Given the description of an element on the screen output the (x, y) to click on. 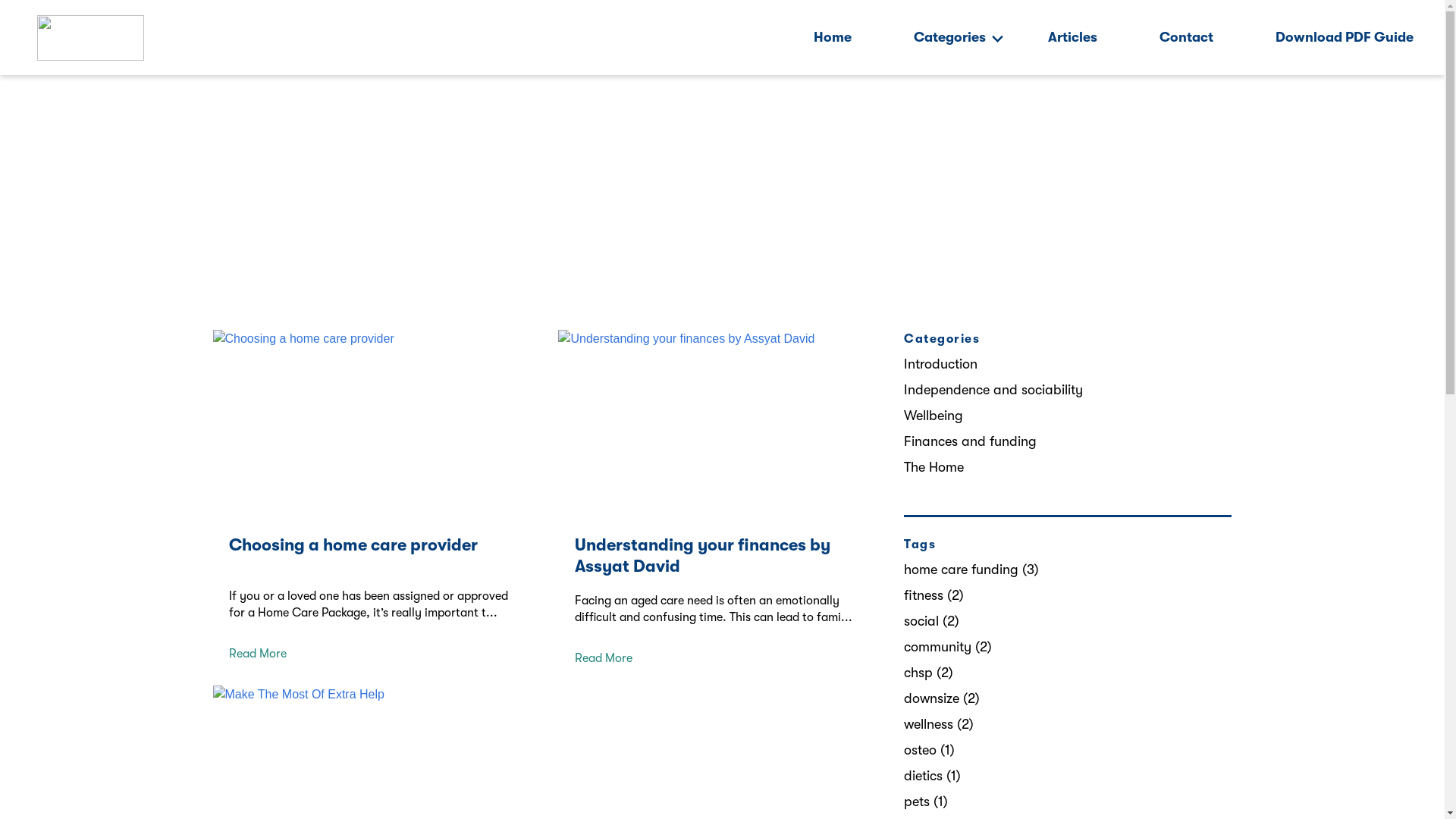
Choosing a home care provider Element type: text (353, 548)
dietics (1) Element type: text (931, 775)
community (2) Element type: text (947, 646)
osteo (1) Element type: text (928, 749)
fitness (2) Element type: text (933, 594)
chsp (2) Element type: text (928, 672)
Contact Element type: text (1186, 37)
Download PDF Guide Element type: text (1344, 37)
downsize (2) Element type: text (941, 698)
Understanding your finances by Assyat David Element type: text (702, 559)
Wellbeing Element type: text (933, 415)
pets (1) Element type: text (925, 801)
Introduction Element type: text (940, 363)
Independence and sociability Element type: text (992, 389)
Finances and funding Element type: text (969, 440)
wellness (2) Element type: text (938, 723)
Articles Element type: text (1072, 37)
Home Element type: text (832, 37)
Read More Element type: text (257, 657)
social (2) Element type: text (931, 620)
The Home Element type: text (933, 466)
Read More Element type: text (603, 661)
home care funding (3) Element type: text (970, 569)
Categories Element type: text (949, 37)
